Given the description of an element on the screen output the (x, y) to click on. 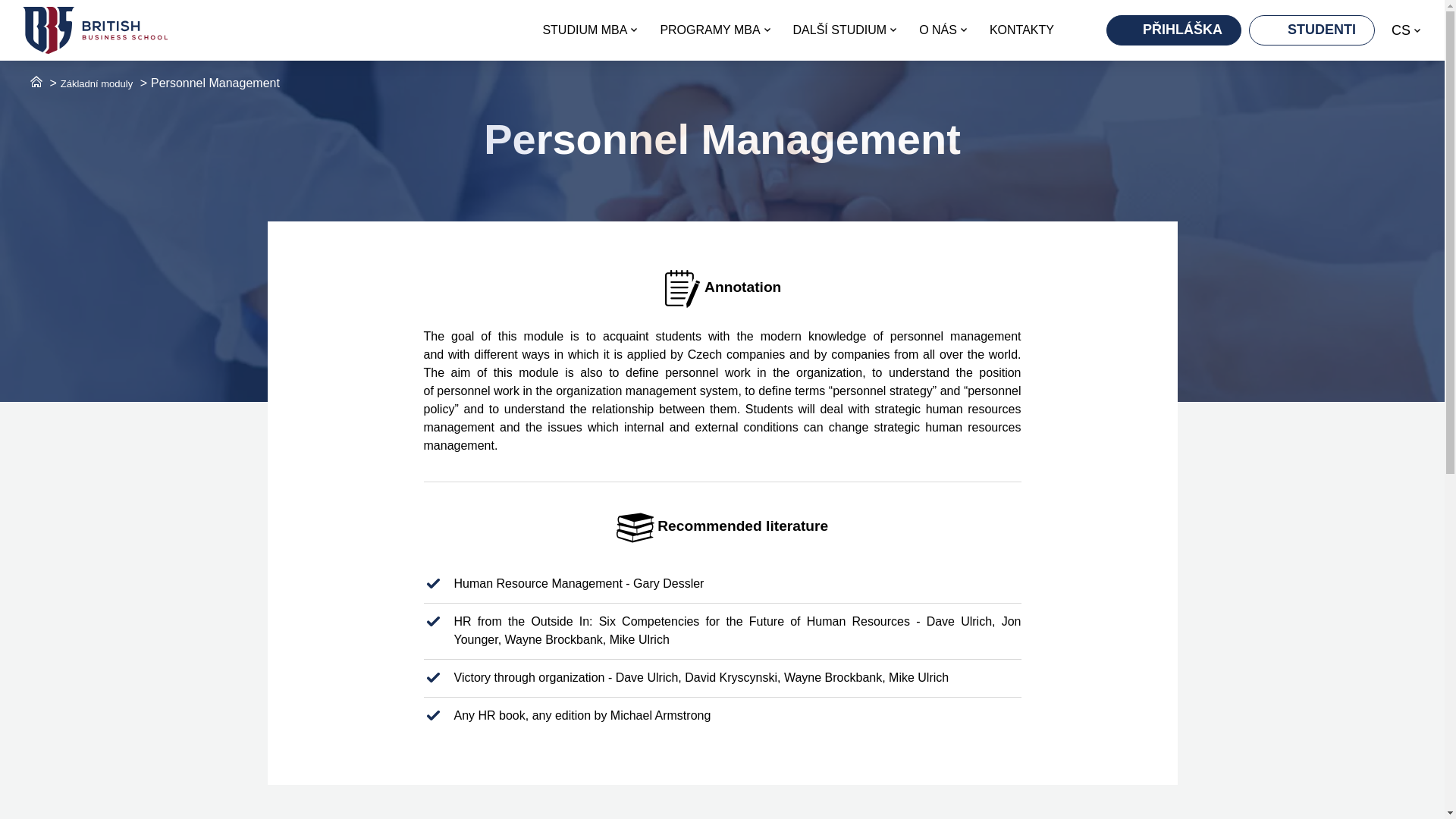
PROGRAMY MBA (713, 30)
STUDIUM MBA (589, 30)
